Given the description of an element on the screen output the (x, y) to click on. 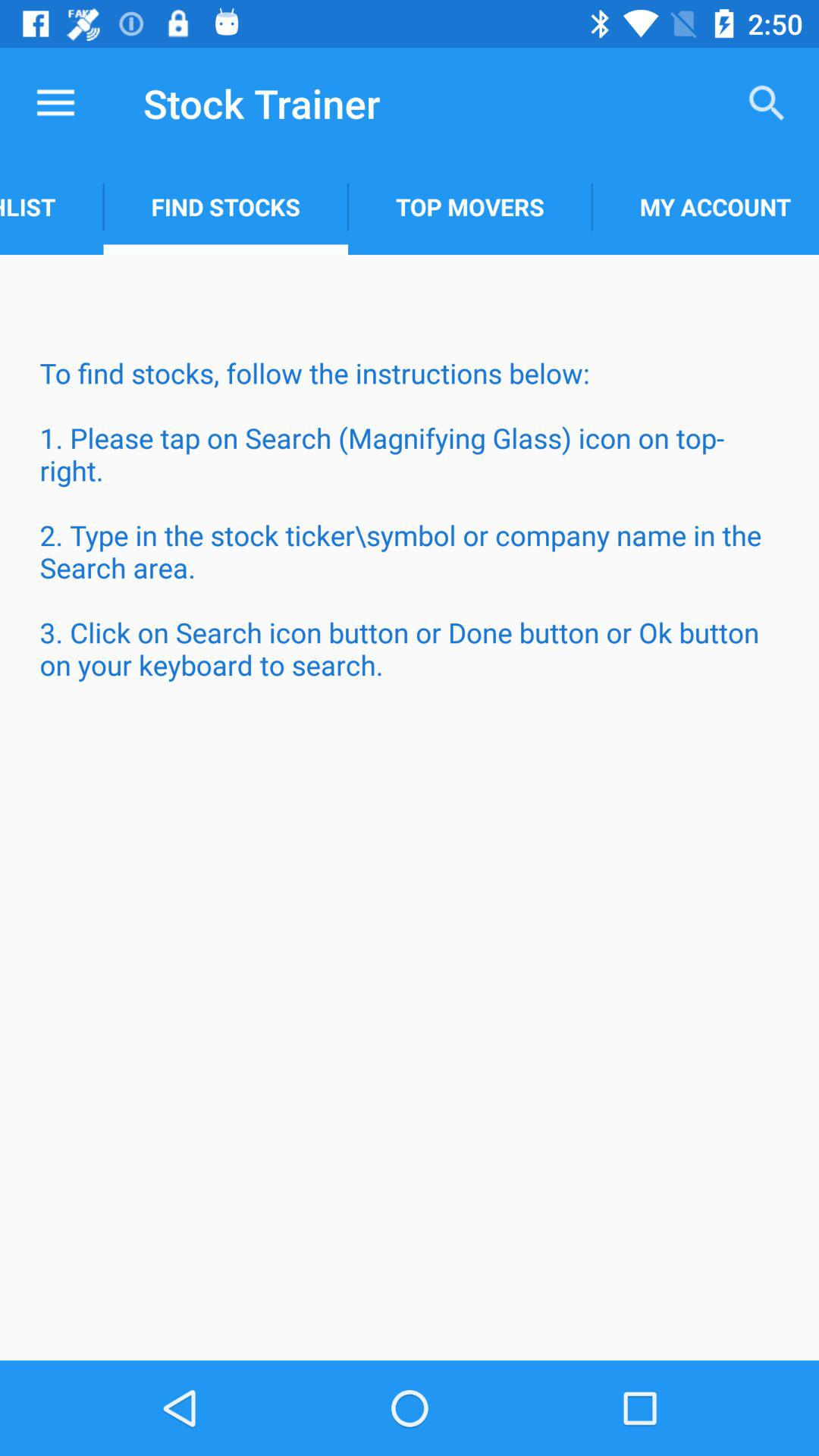
select app next to top movers (705, 206)
